Given the description of an element on the screen output the (x, y) to click on. 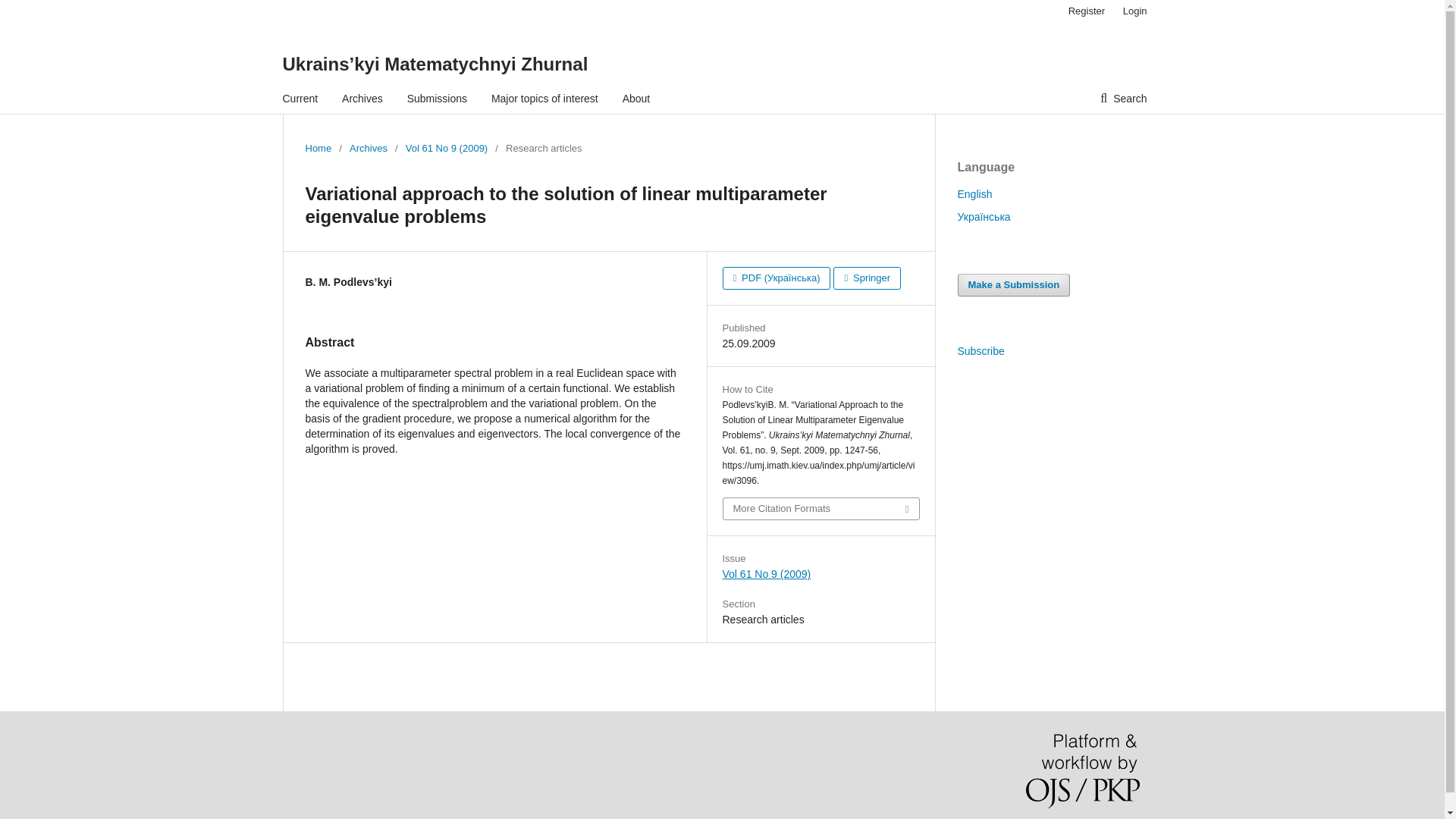
Major topics of interest (545, 98)
Login (1131, 11)
Search (1122, 98)
About (636, 98)
Springer (866, 277)
Register (1086, 11)
Archives (368, 148)
Subscribe (980, 350)
Home (317, 148)
Make a Submission (1013, 284)
English (973, 193)
More Citation Formats (820, 508)
Submissions (437, 98)
Archives (362, 98)
Current (299, 98)
